Given the description of an element on the screen output the (x, y) to click on. 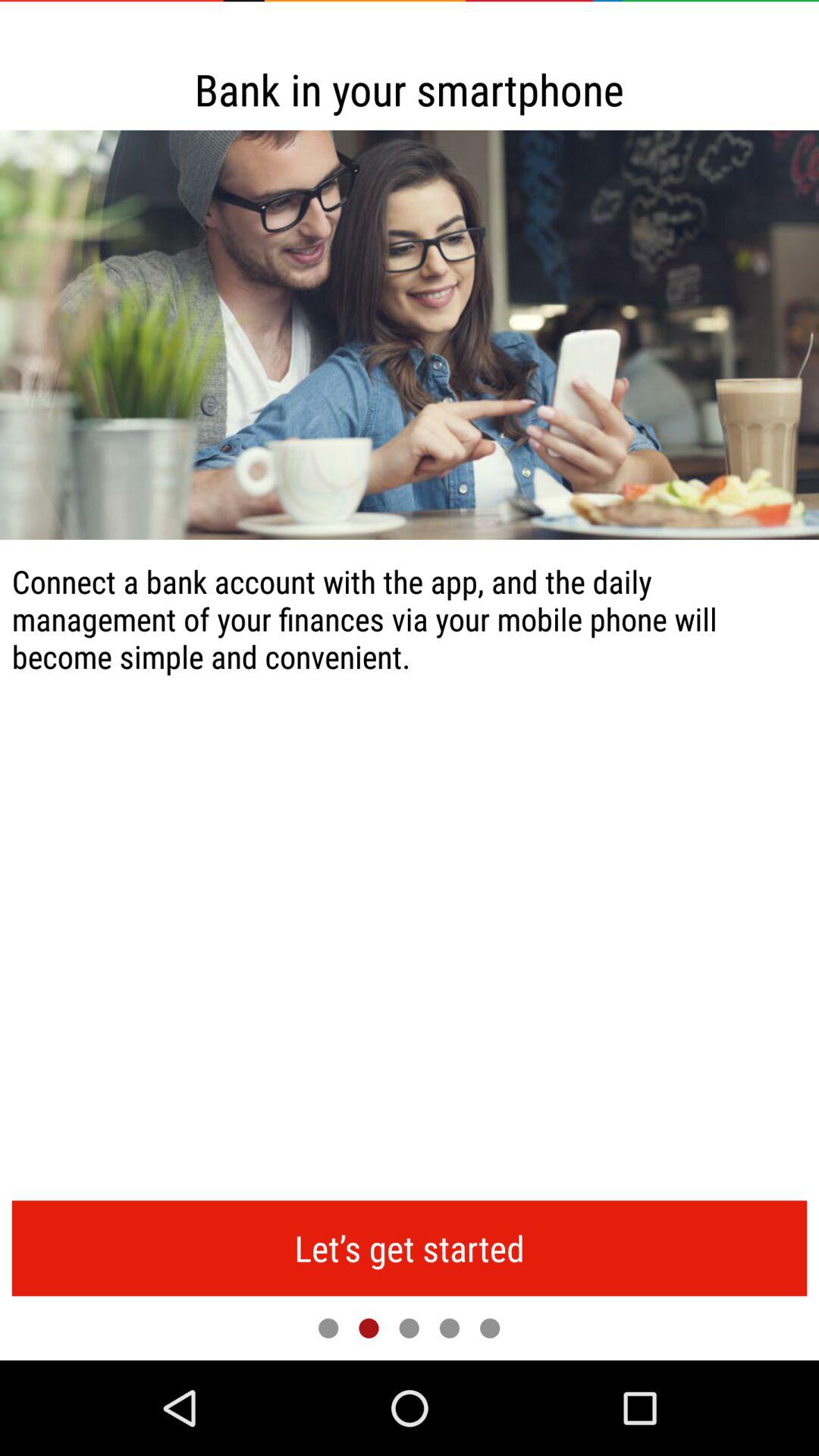
remain on current slide (368, 1328)
